Given the description of an element on the screen output the (x, y) to click on. 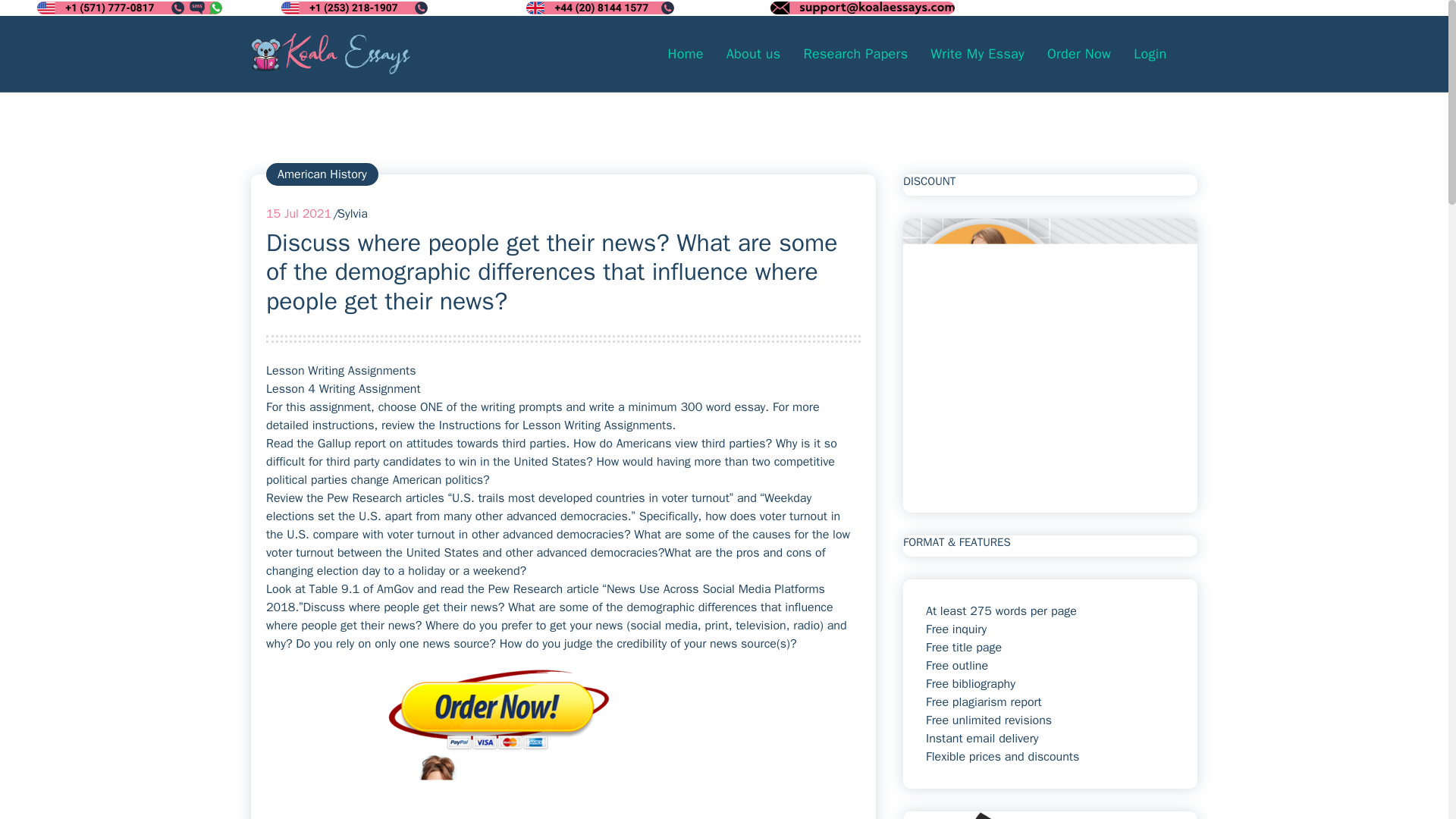
Research Papers (855, 53)
Write My Essay (977, 53)
Research Papers (855, 53)
Sylvia (352, 213)
15 Jul 2021 (298, 213)
Order Now (1078, 53)
Order Now (1078, 53)
About us (753, 53)
About us (753, 53)
American History (322, 174)
